Given the description of an element on the screen output the (x, y) to click on. 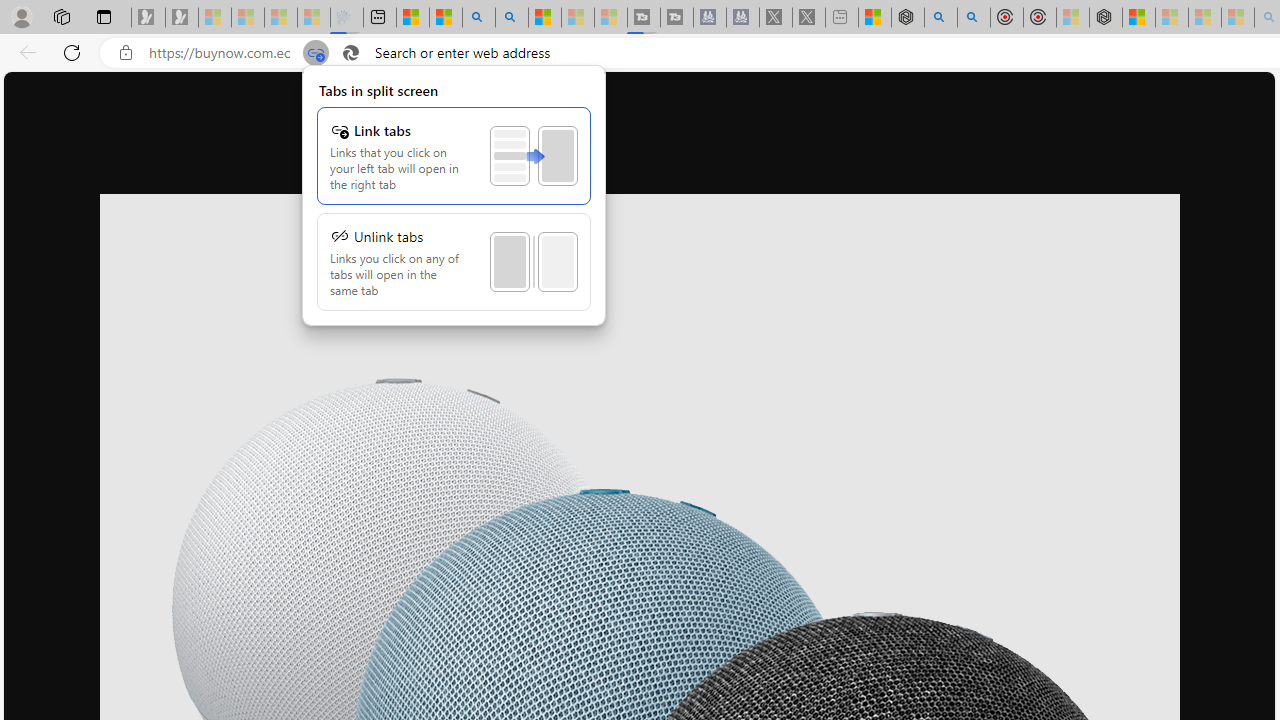
Tabs in split screen (454, 195)
poe ++ standard - Search (973, 17)
Class: SplitWindowMenuLinkPanelView (454, 195)
Link tabs (454, 156)
X - Sleeping (808, 17)
New tab - Sleeping (841, 17)
